Given the description of an element on the screen output the (x, y) to click on. 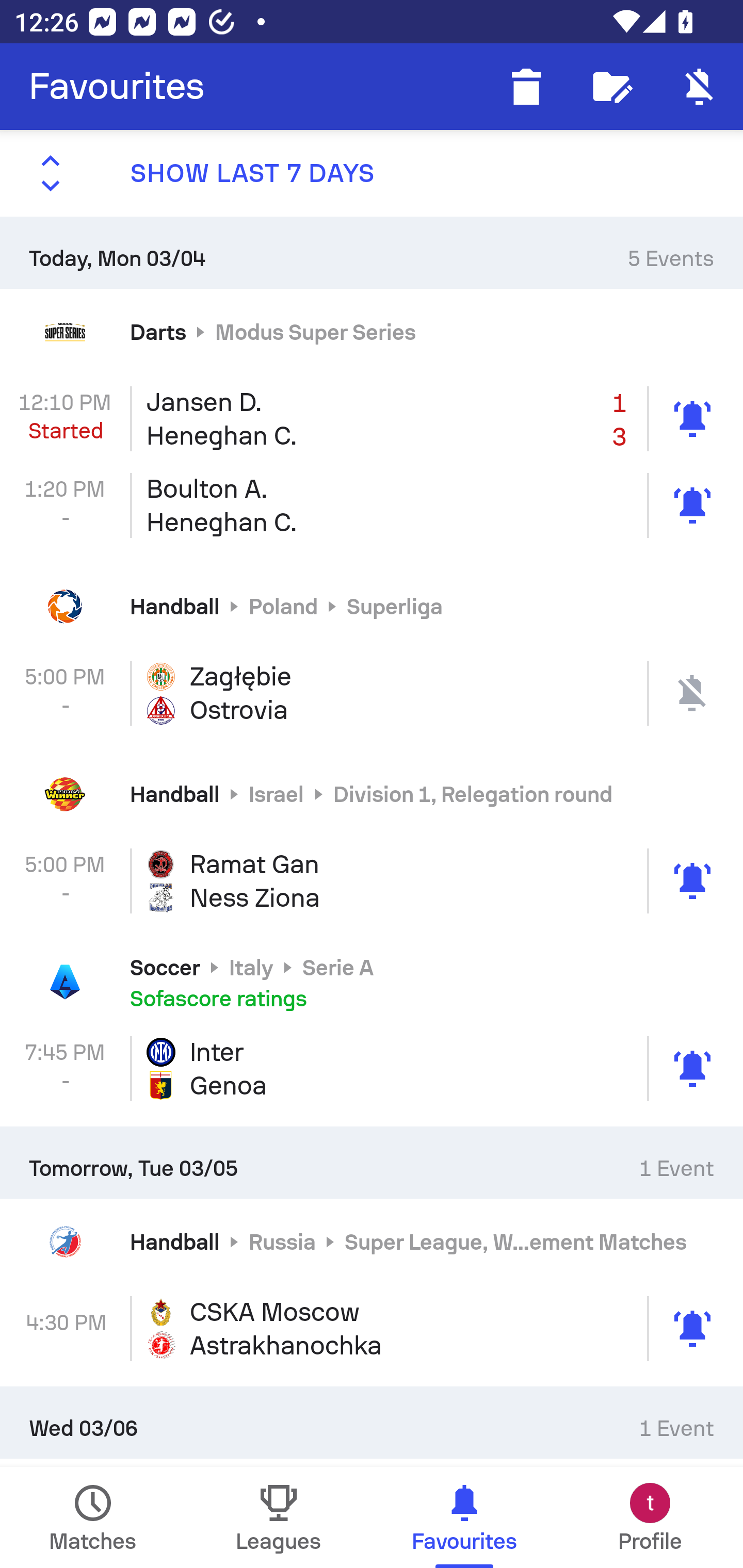
Favourites (116, 86)
Delete finished (525, 86)
Follow editor (612, 86)
Enable notifications (699, 86)
SHOW LAST 7 DAYS (371, 173)
Today, Mon 03/04 5 Events (371, 252)
Darts Modus Super Series (371, 331)
12:10 PM Started Jansen D. 1 Heneghan C. 3 (371, 418)
1:20 PM - Boulton A. Heneghan C. (371, 505)
Handball Poland Superliga (371, 605)
5:00 PM - Zagłębie Ostrovia (371, 692)
Handball Israel Division 1, Relegation round (371, 794)
5:00 PM - Ramat Gan Ness Ziona (371, 880)
Soccer Italy Serie A Sofascore ratings (371, 982)
7:45 PM - Inter Genoa (371, 1068)
Tomorrow, Tue 03/05 1 Event (371, 1161)
4:30 PM CSKA Moscow Astrakhanochka (371, 1328)
Wed 03/06 1 Event (371, 1422)
Matches (92, 1517)
Leagues (278, 1517)
Profile (650, 1517)
